Given the description of an element on the screen output the (x, y) to click on. 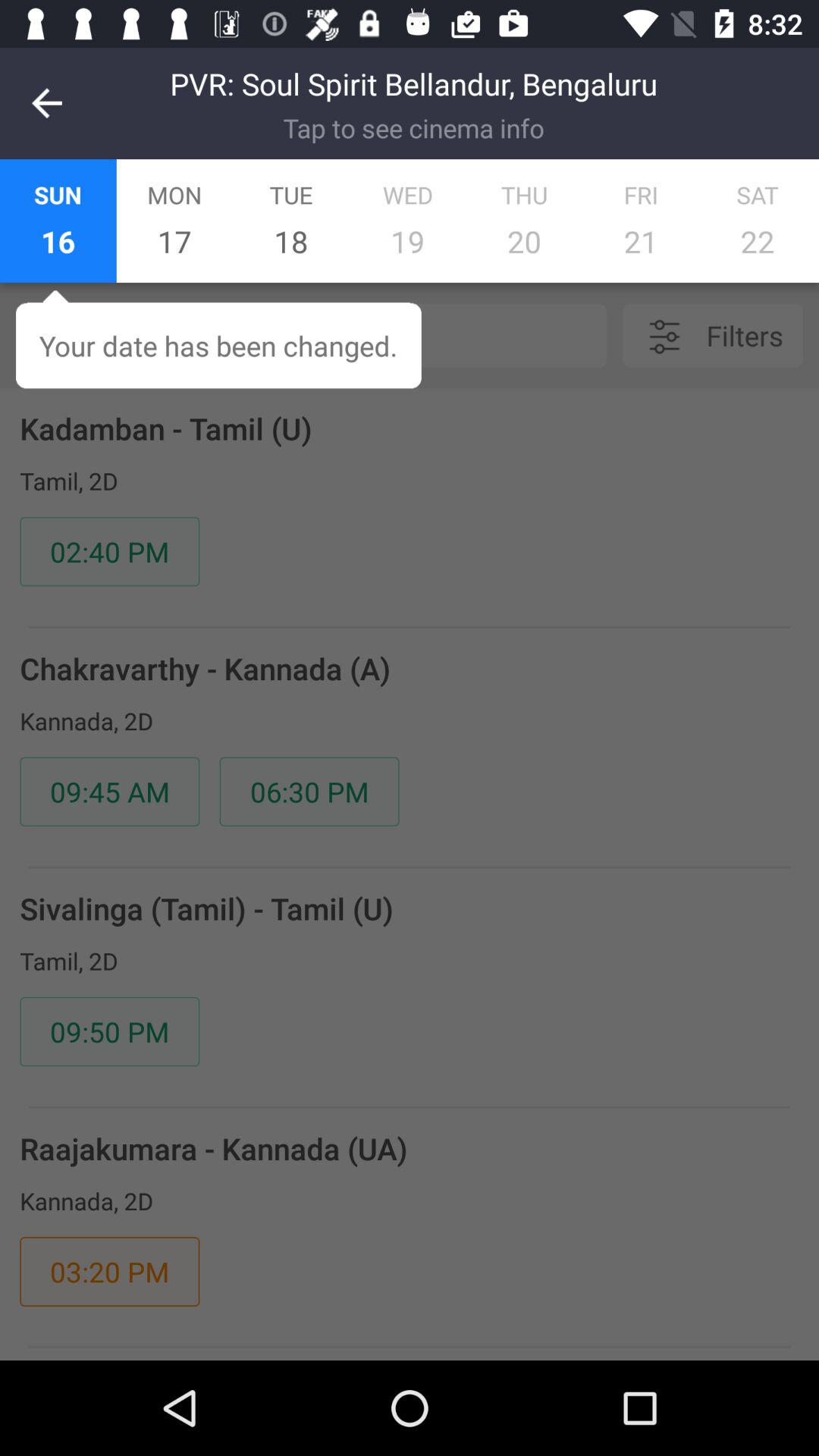
turn off the search by movie (347, 335)
